Given the description of an element on the screen output the (x, y) to click on. 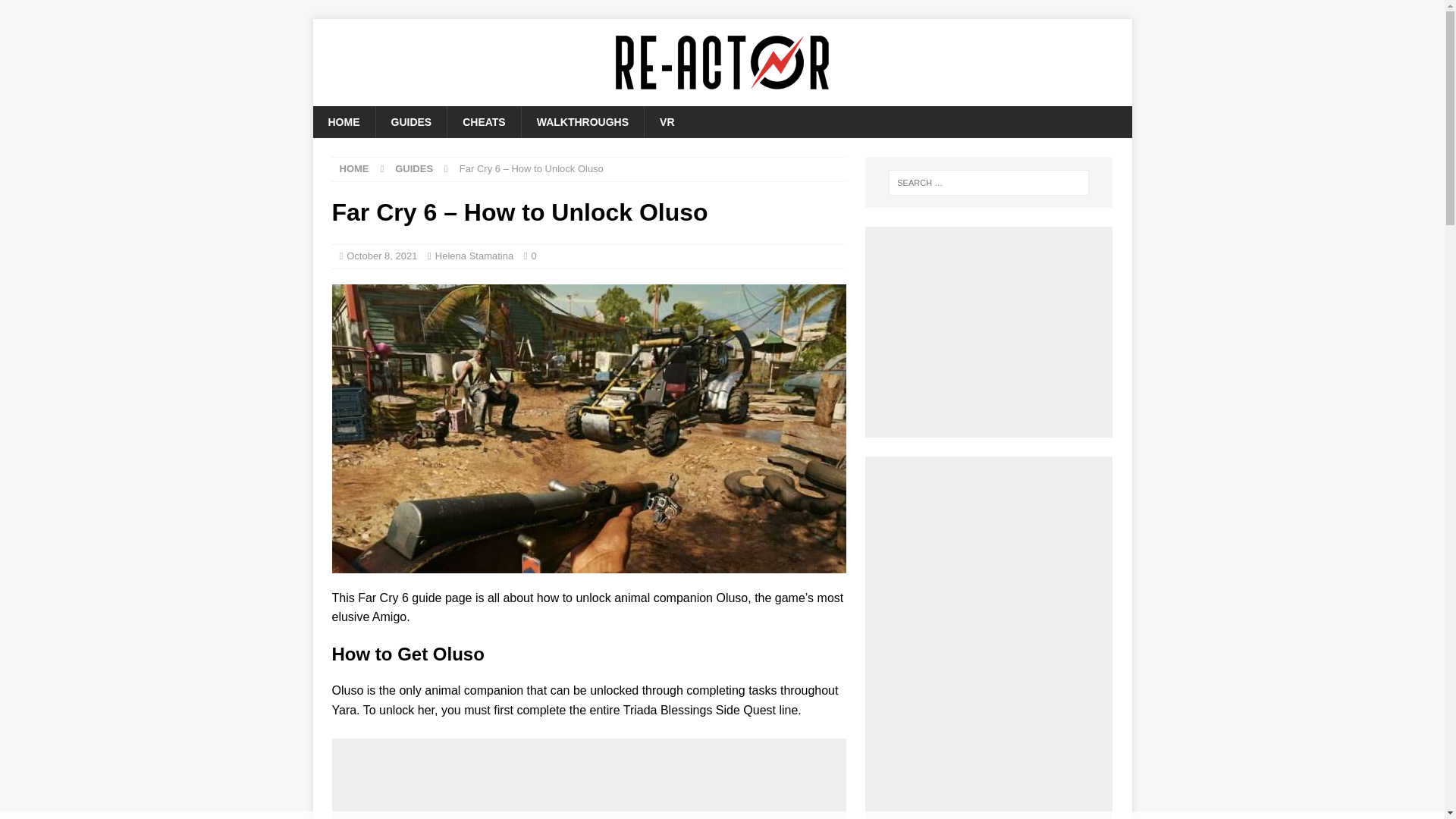
HOME (343, 122)
GUIDES (413, 168)
CHEATS (483, 122)
October 8, 2021 (381, 255)
VR (665, 122)
GUIDES (410, 122)
WALKTHROUGHS (582, 122)
Helena Stamatina (474, 255)
HOME (354, 168)
